Given the description of an element on the screen output the (x, y) to click on. 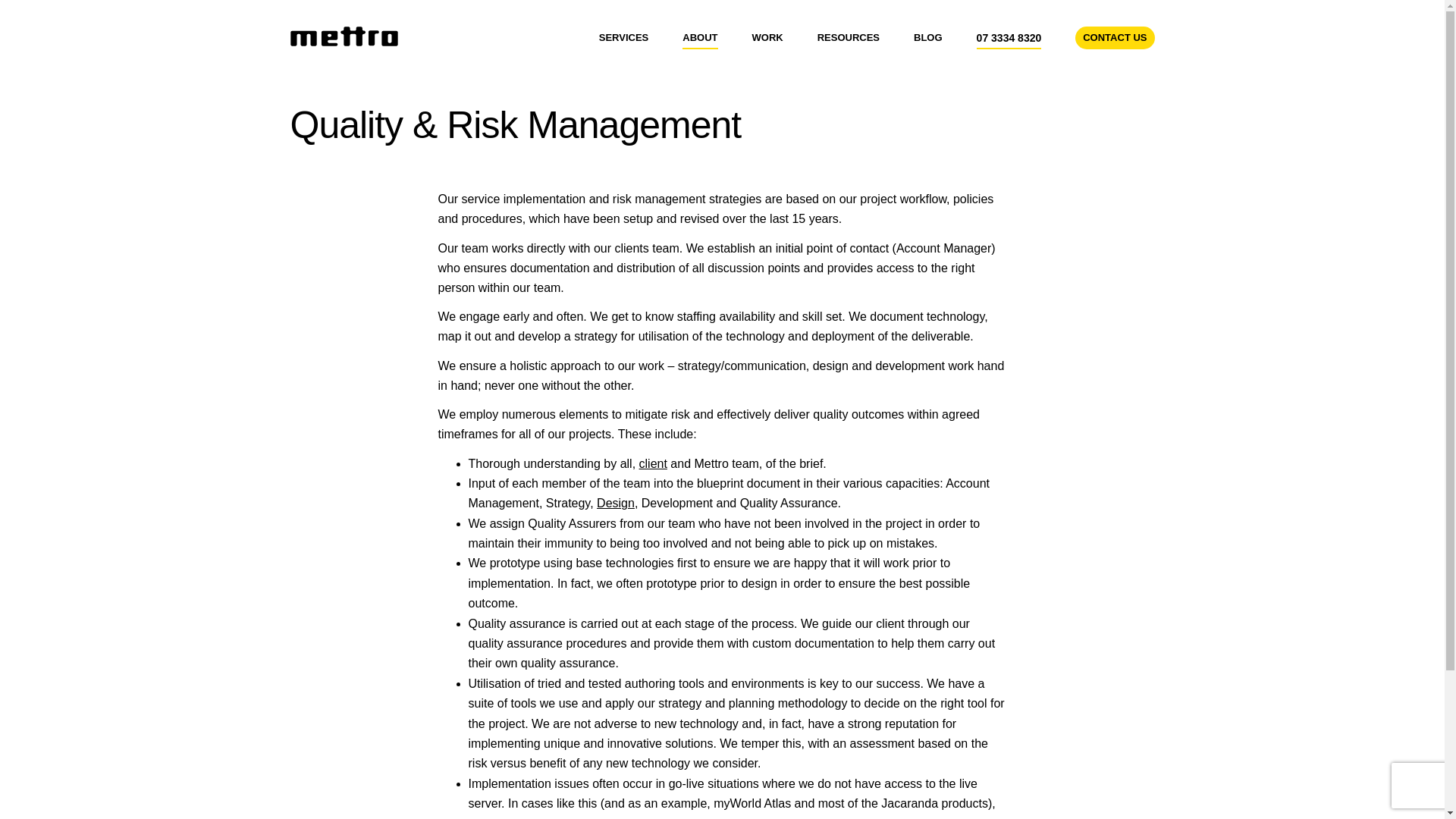
WORK (767, 37)
ABOUT (699, 37)
SERVICES (623, 37)
RESOURCES (847, 37)
